Given the description of an element on the screen output the (x, y) to click on. 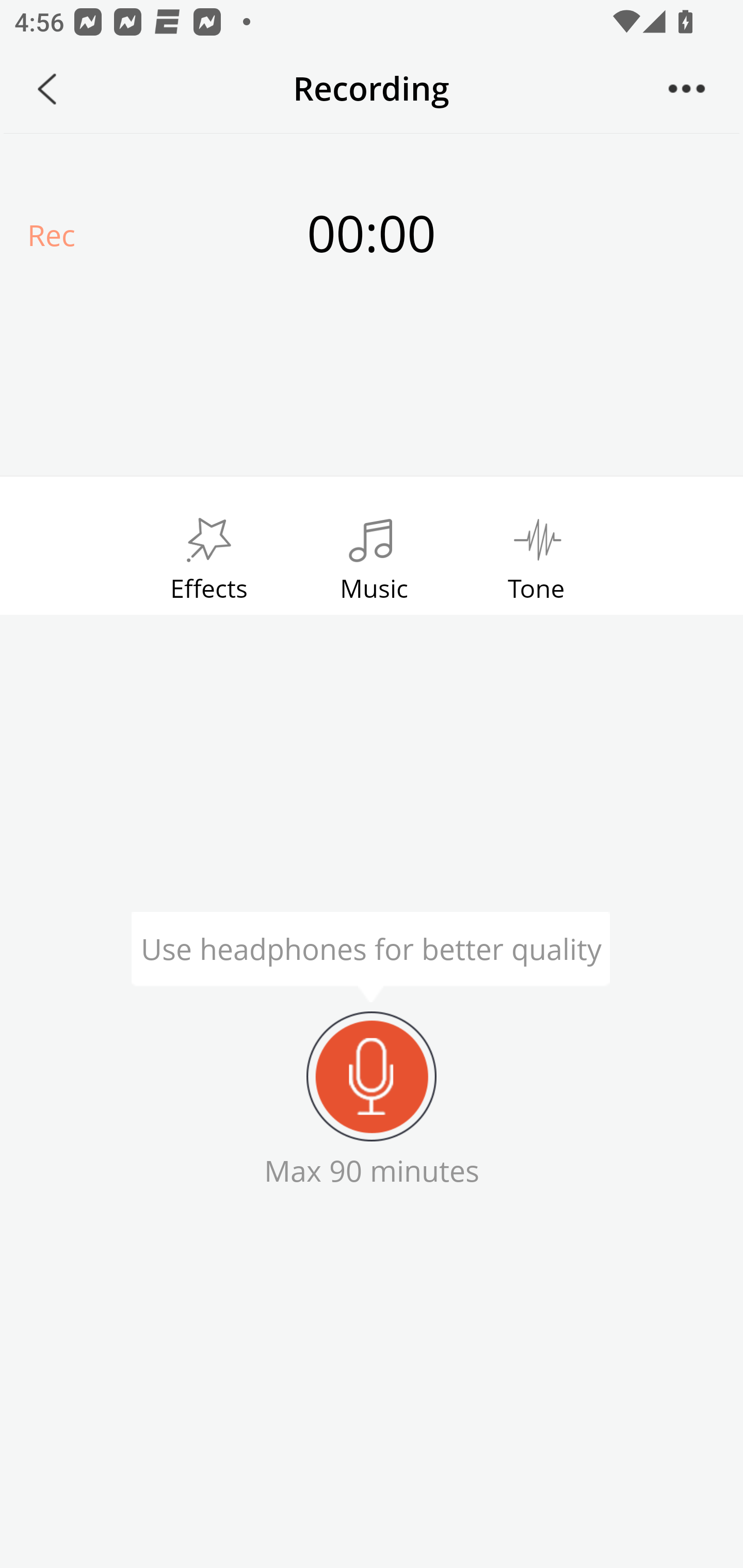
Back (46, 88)
Effects (208, 554)
Music (374, 554)
Tone (536, 554)
Recording (371, 1076)
